Given the description of an element on the screen output the (x, y) to click on. 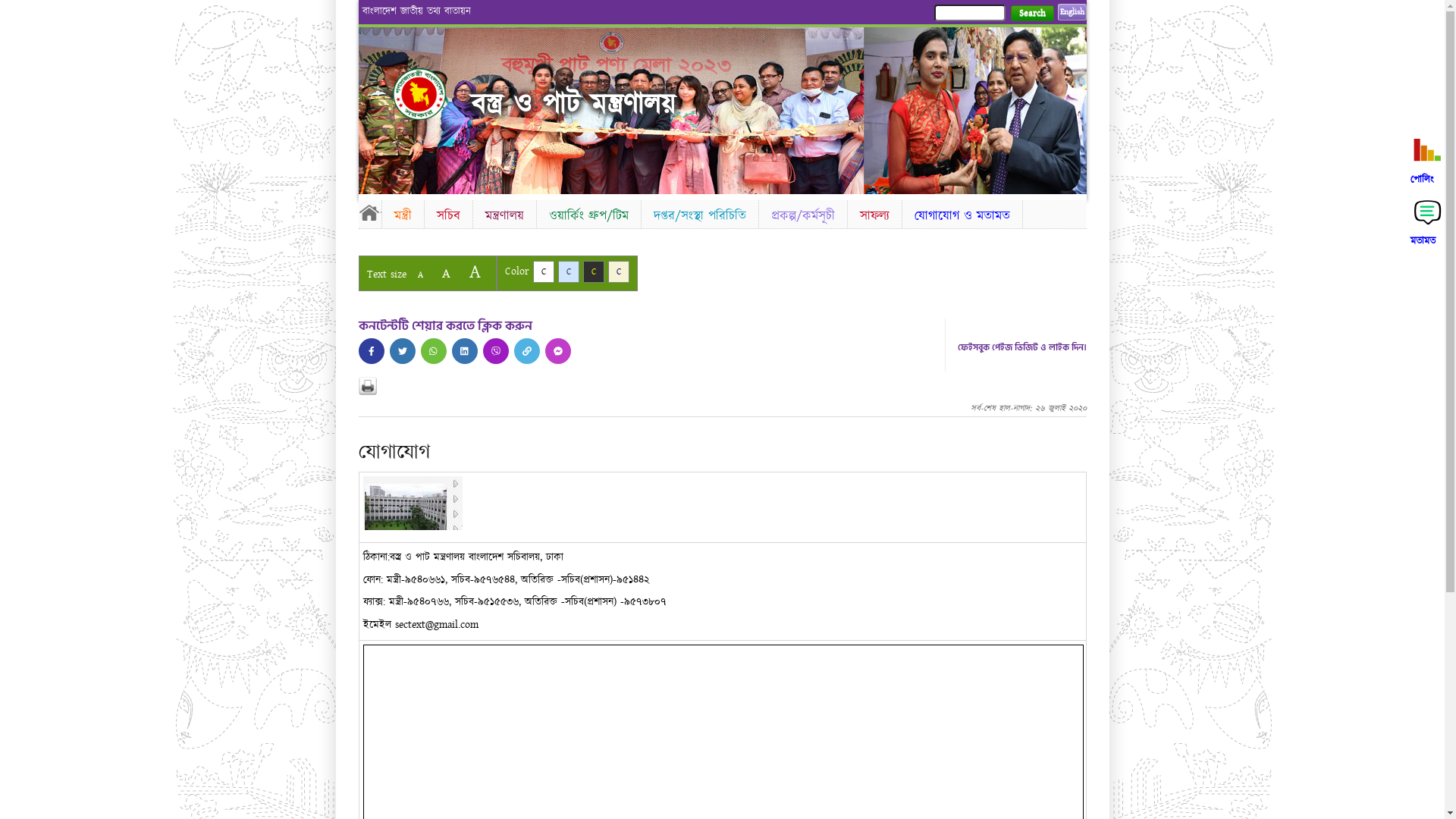
A Element type: text (474, 271)
English Element type: text (1071, 11)
C Element type: text (568, 271)
Home Element type: hover (431, 93)
A Element type: text (445, 273)
C Element type: text (618, 271)
Home Element type: hover (368, 211)
C Element type: text (542, 271)
C Element type: text (592, 271)
Search Element type: text (1031, 13)
A Element type: text (419, 274)
